Given the description of an element on the screen output the (x, y) to click on. 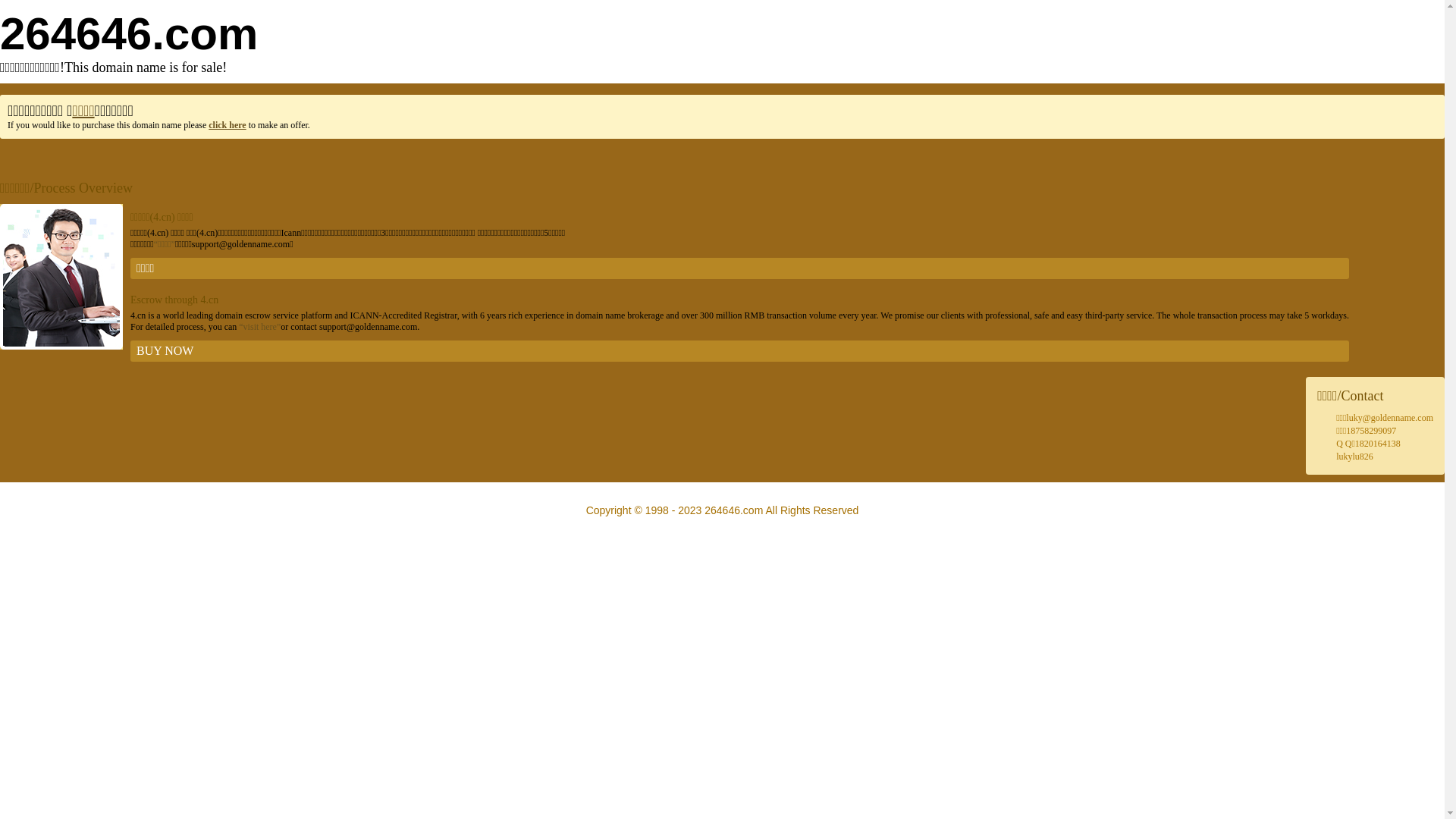
click here Element type: text (226, 124)
BUY NOW Element type: text (739, 350)
